Given the description of an element on the screen output the (x, y) to click on. 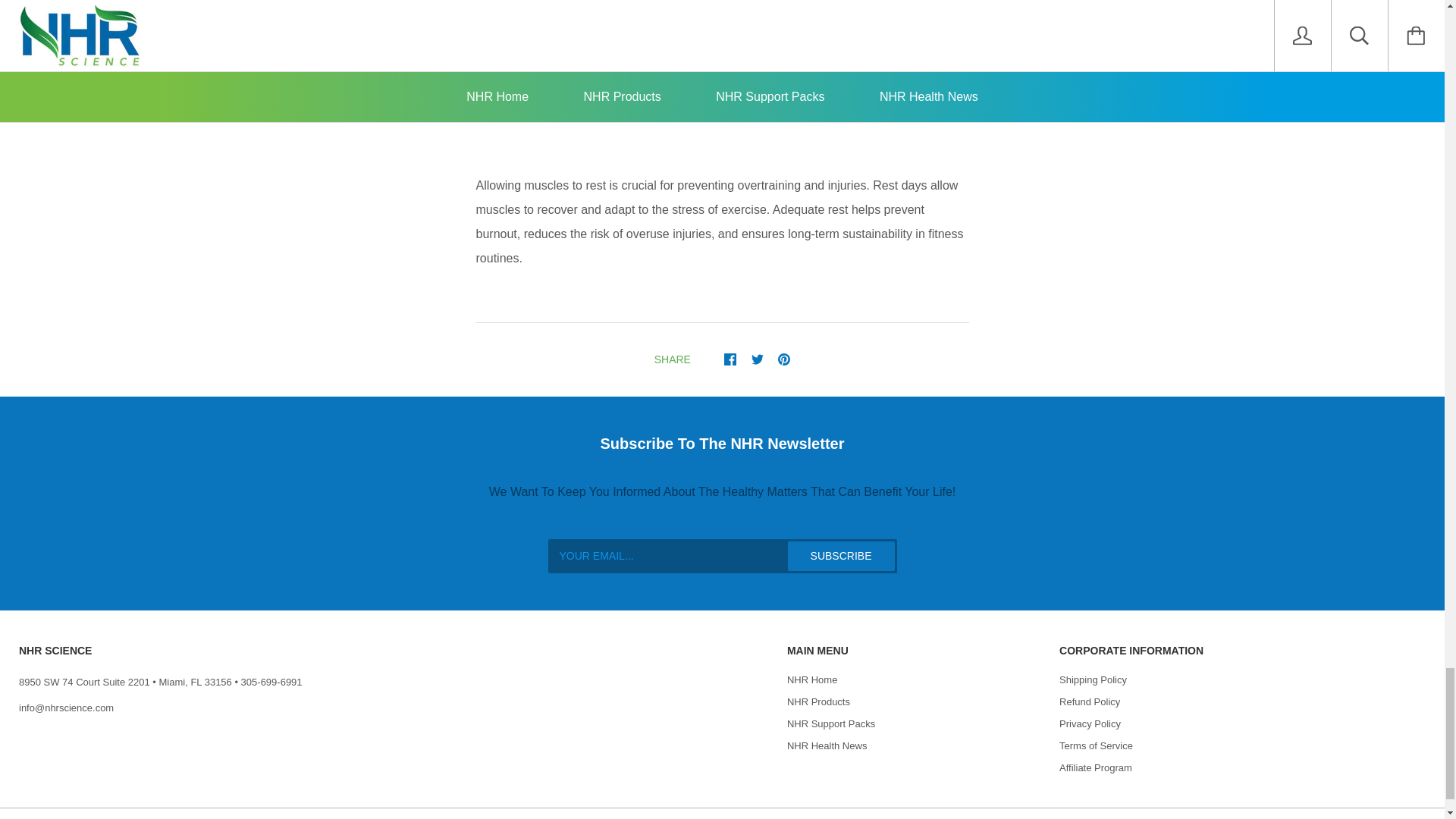
Subscribe (841, 555)
